Given the description of an element on the screen output the (x, y) to click on. 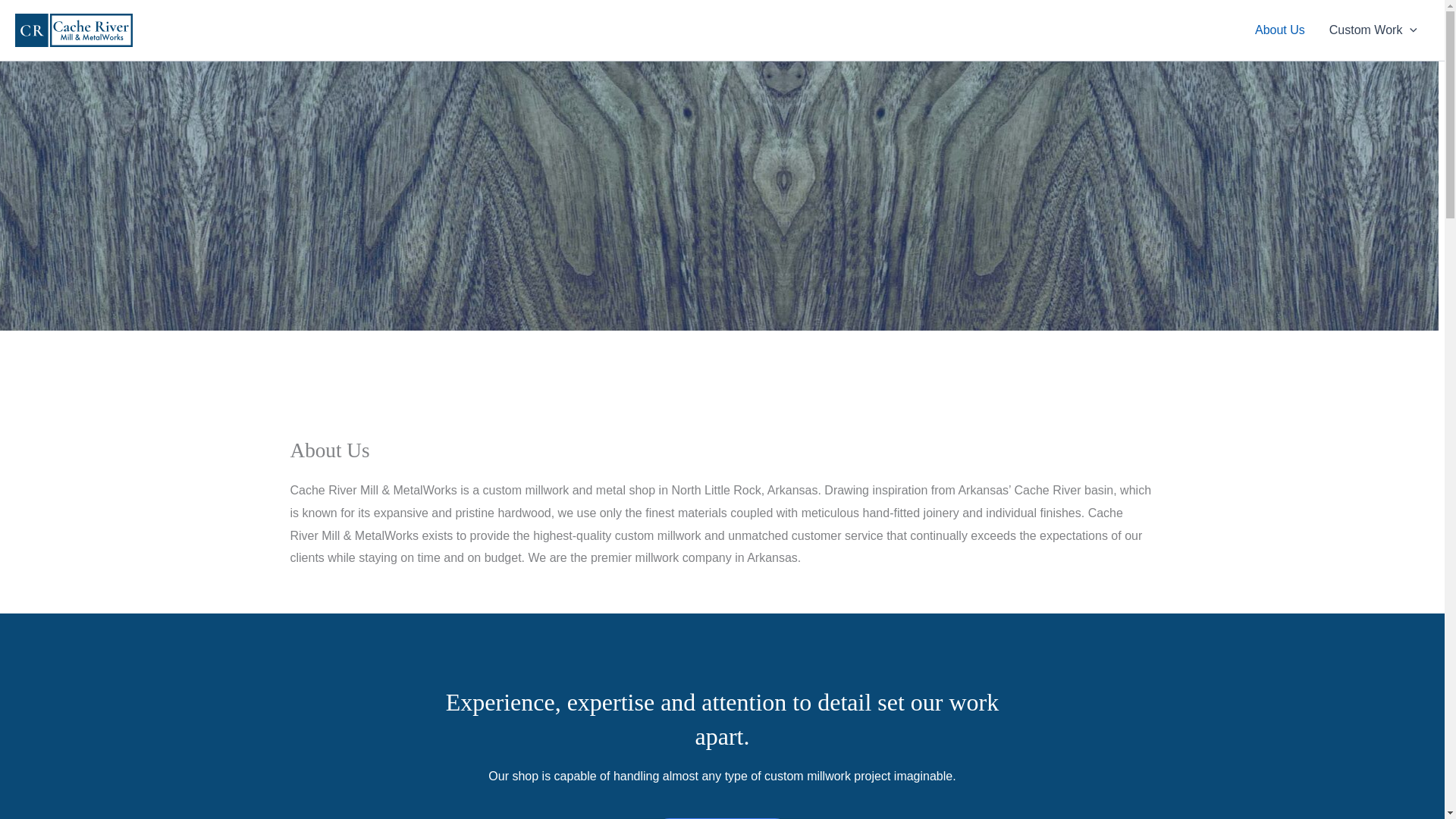
Custom Work (1373, 30)
About Us (1280, 30)
